Given the description of an element on the screen output the (x, y) to click on. 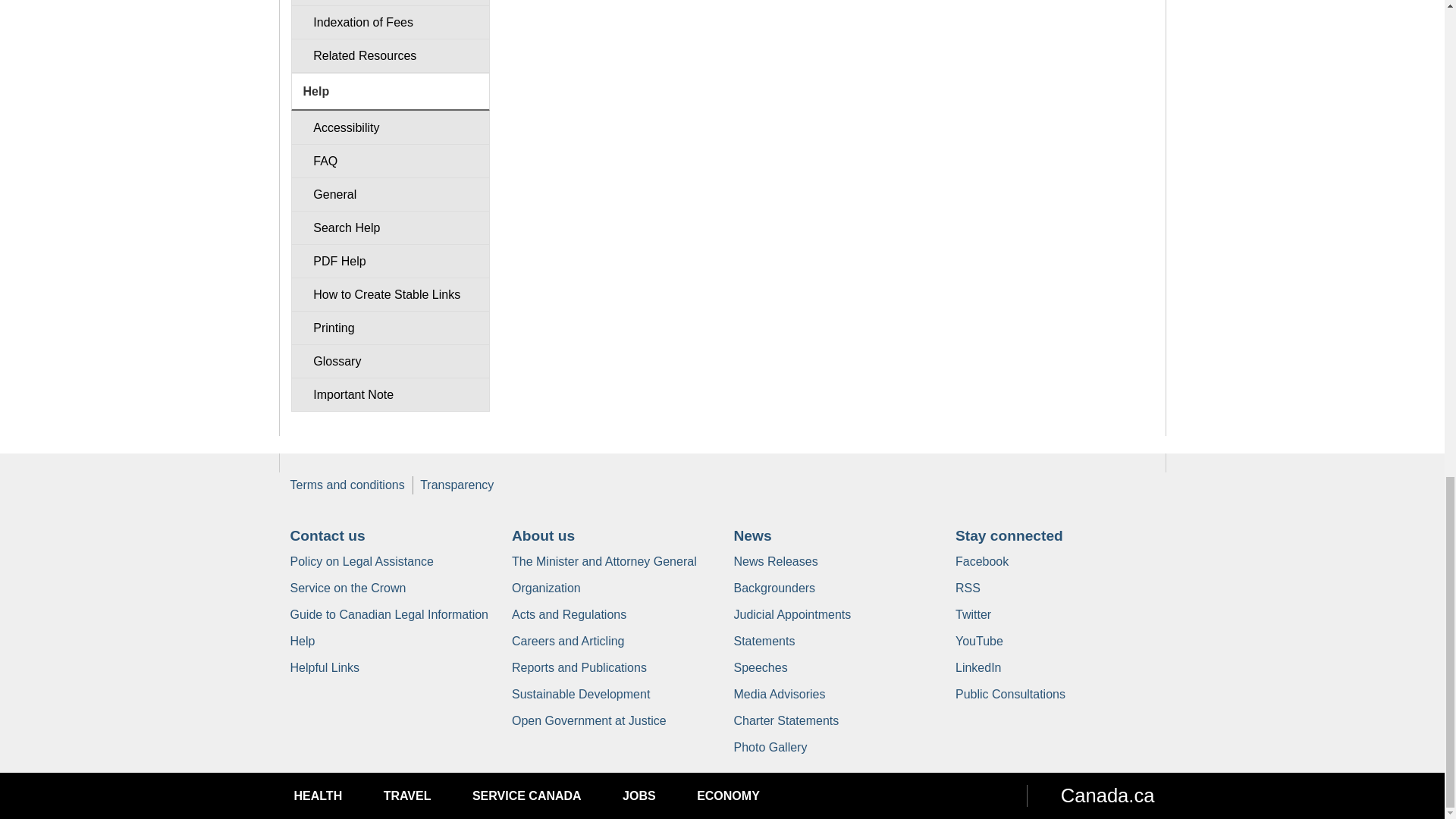
Helpful links (324, 667)
Indexation of Fees (390, 21)
Accessibility Help (390, 127)
Related Resources (390, 55)
Consolidated Index of Statutory Instruments (390, 2)
Frequently Asked Questions (390, 161)
General Help (390, 194)
Printing Help (390, 327)
